Given the description of an element on the screen output the (x, y) to click on. 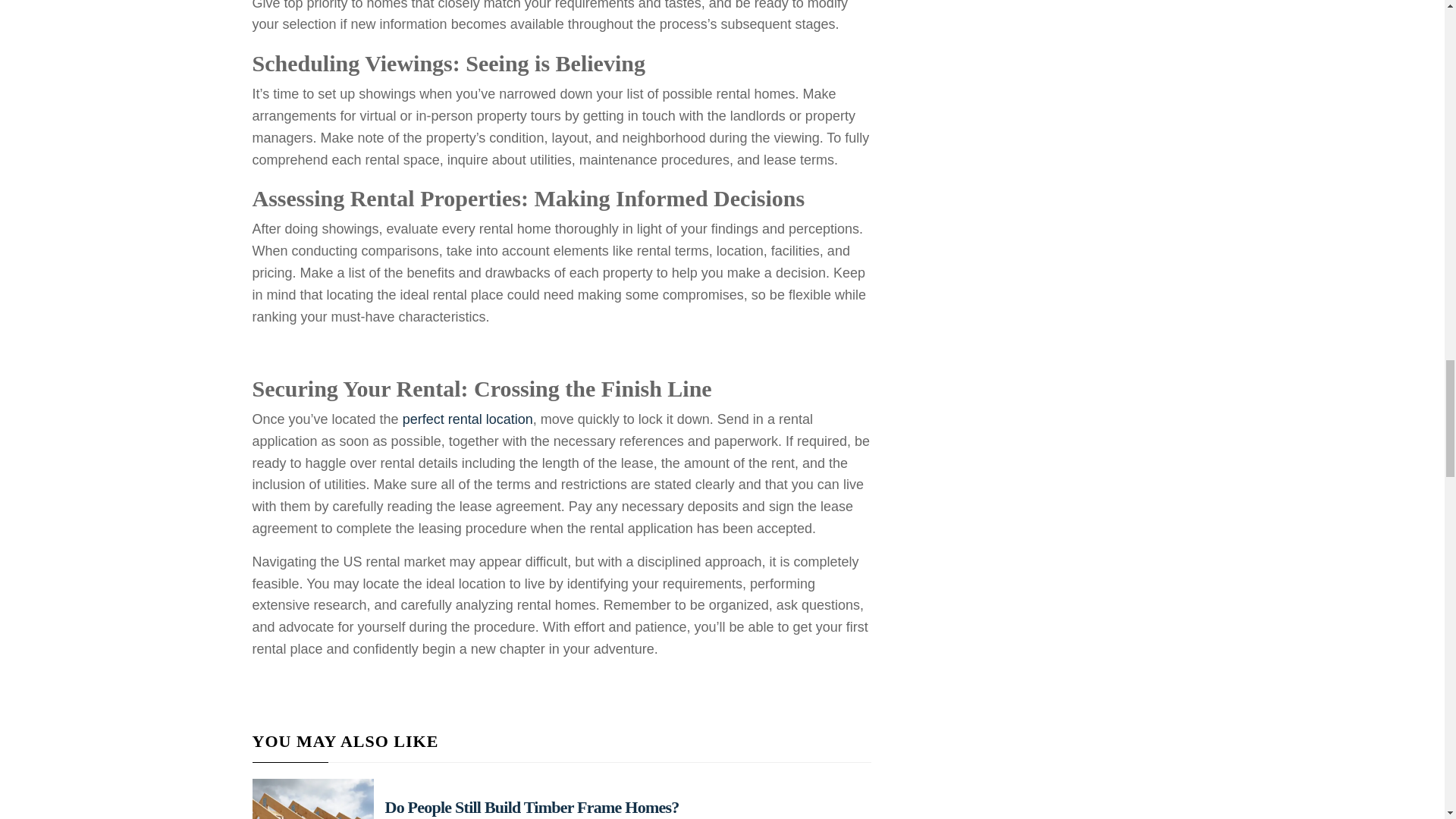
Do People Still Build Timber Frame Homes? (532, 806)
perfect rental location (467, 418)
